Given the description of an element on the screen output the (x, y) to click on. 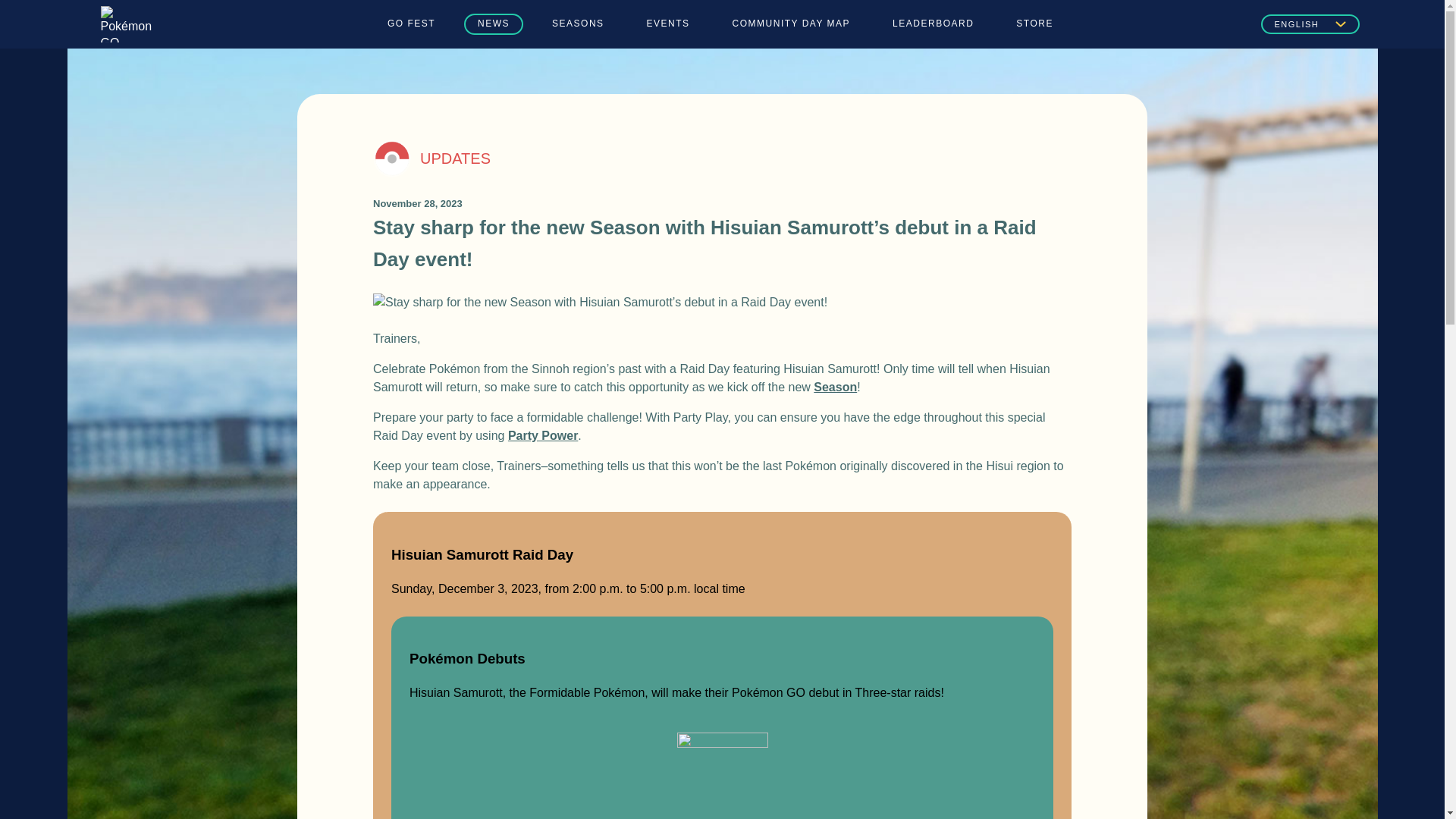
SEASONS (577, 24)
GO FEST (411, 24)
EVENTS (668, 24)
STORE (1035, 24)
COMMUNITY DAY MAP (791, 24)
NEWS (493, 24)
LEADERBOARD (933, 24)
